Given the description of an element on the screen output the (x, y) to click on. 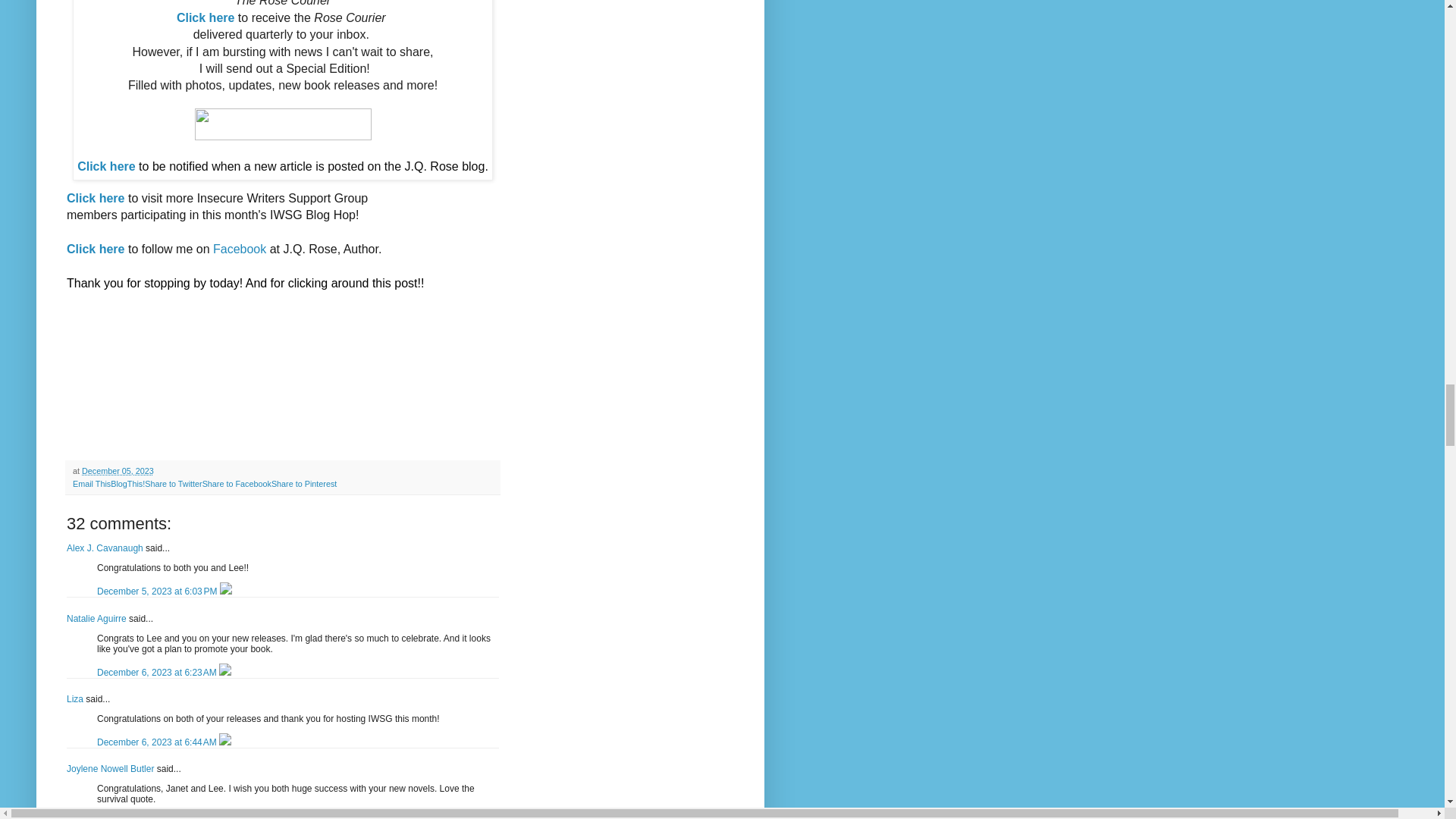
Delete Comment (225, 672)
December 05, 2023 (117, 470)
Click here (94, 248)
Share to Facebook (236, 483)
permanent link (117, 470)
comment permalink (158, 672)
Click here (94, 197)
Email Post (162, 470)
Share to Pinterest (303, 483)
comment permalink (158, 591)
Click here (205, 17)
Delete Comment (225, 591)
Email This (91, 483)
comment permalink (158, 742)
Facebook (239, 248)
